Given the description of an element on the screen output the (x, y) to click on. 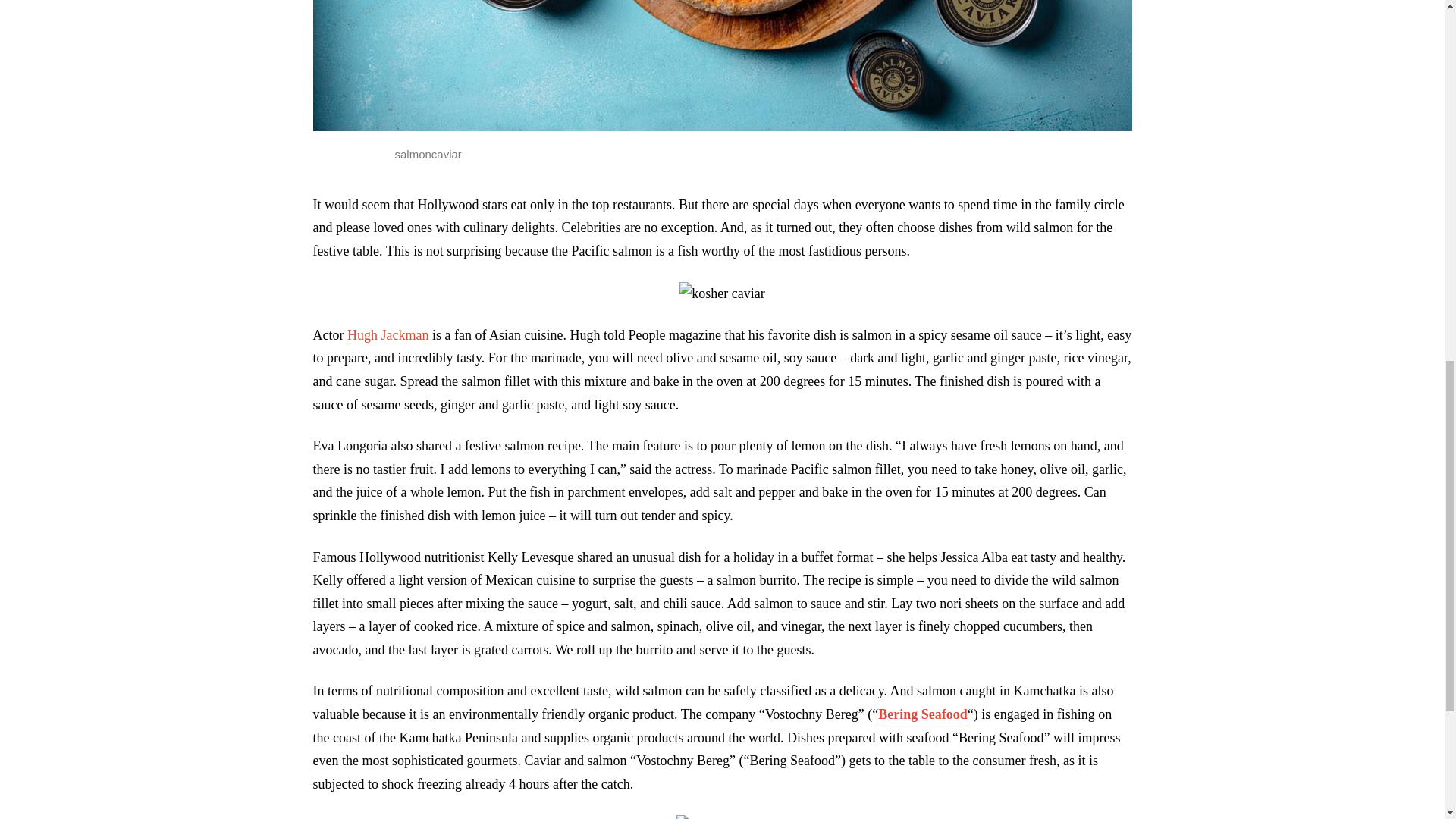
Hugh Jackman (387, 335)
Bering Seafood (922, 713)
